Given the description of an element on the screen output the (x, y) to click on. 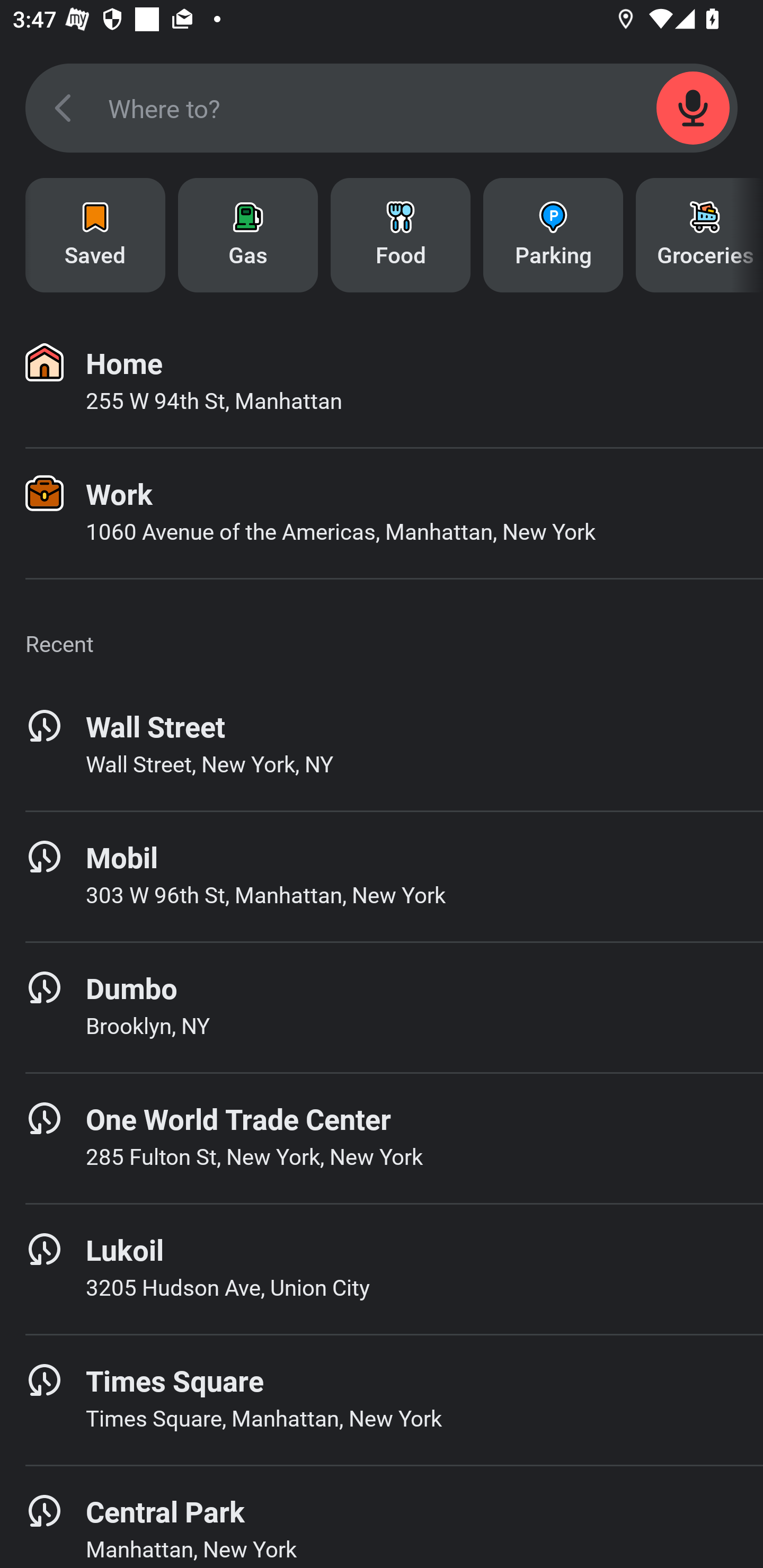
SEARCH_SCREEN_SEARCH_FIELD Where to? (381, 108)
Saved (95, 234)
Gas (247, 234)
Food (400, 234)
Parking (552, 234)
Groceries (699, 234)
Home 255 W 94th St, Manhattan (381, 382)
Wall Street Wall Street, New York, NY (381, 745)
Mobil 303 W 96th St, Manhattan, New York (381, 876)
Dumbo Brooklyn, NY (381, 1007)
Lukoil 3205 Hudson Ave, Union City (381, 1269)
Times Square Times Square, Manhattan, New York (381, 1399)
Central Park Manhattan, New York (381, 1517)
